Given the description of an element on the screen output the (x, y) to click on. 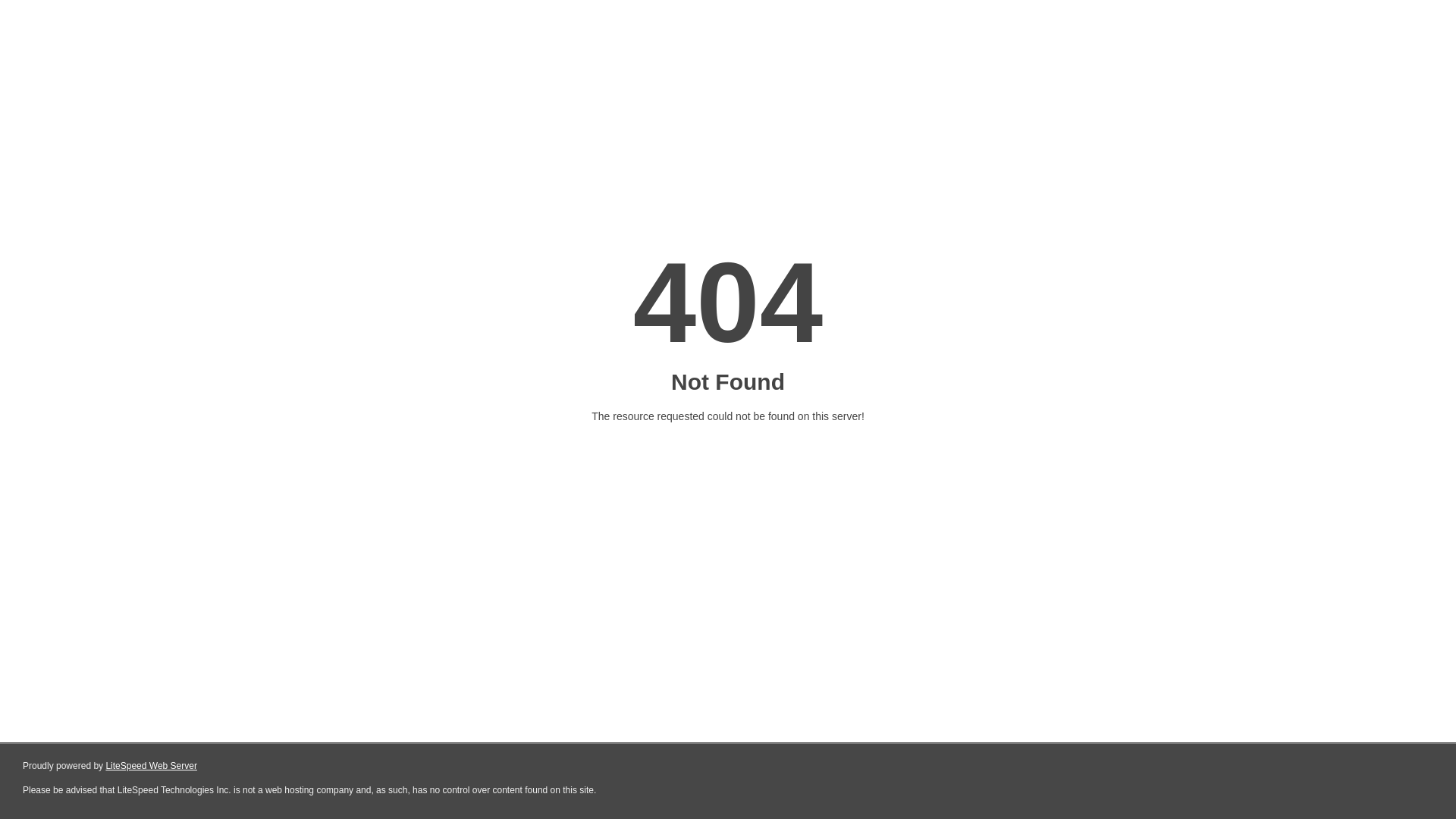
LiteSpeed Web Server Element type: text (151, 765)
